Given the description of an element on the screen output the (x, y) to click on. 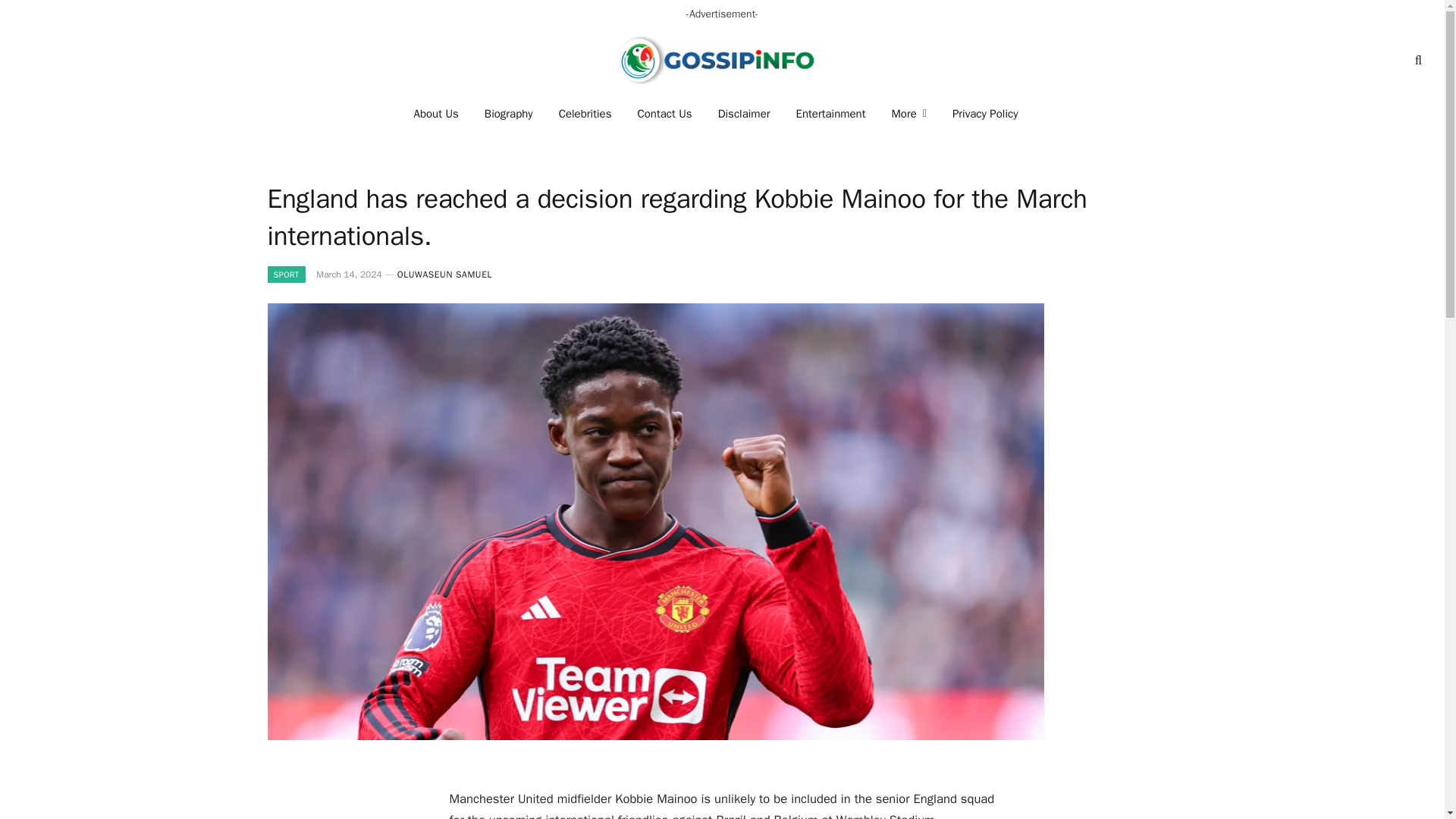
Celebrities (585, 113)
Entertainment (831, 113)
Gossipinfo (722, 59)
Disclaimer (743, 113)
OLUWASEUN SAMUEL (444, 274)
Privacy Policy (984, 113)
Biography (508, 113)
Posts by Oluwaseun samuel (444, 274)
More (908, 113)
SPORT (285, 274)
Contact Us (664, 113)
About Us (436, 113)
